Given the description of an element on the screen output the (x, y) to click on. 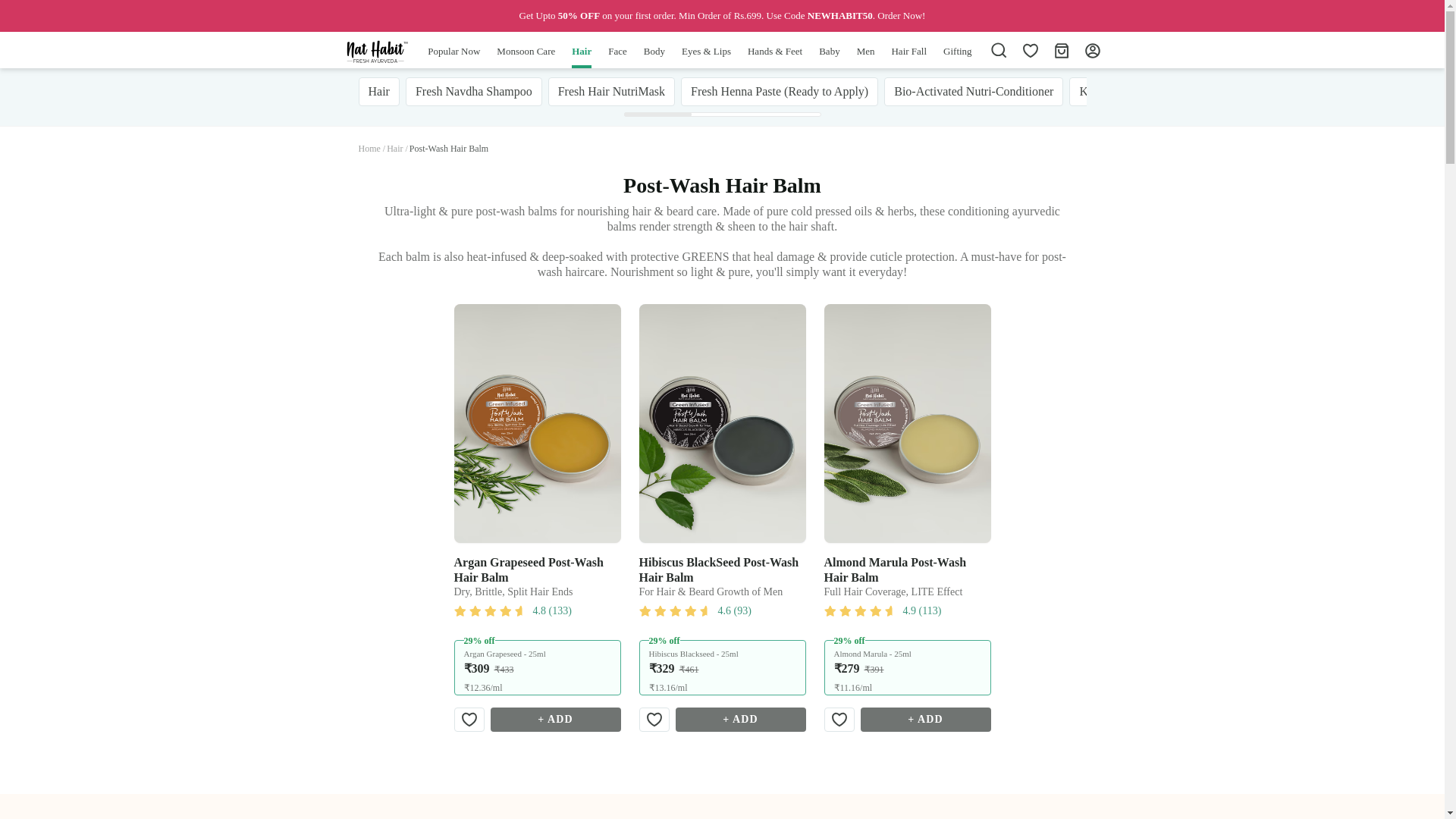
Summer Dasabuti Hair Oils (1361, 91)
Gifting (957, 55)
Fresh Navdha Shampoo (473, 91)
Hair Fall (908, 55)
All Hair Oils (1235, 91)
Bio-Activated Nutri-Conditioner (972, 91)
Popular Now (454, 55)
Monsoon Care (525, 55)
Fresh Hair NutriMask (611, 91)
Kacchi Neem Comb (1128, 91)
Hair (378, 91)
